Given the description of an element on the screen output the (x, y) to click on. 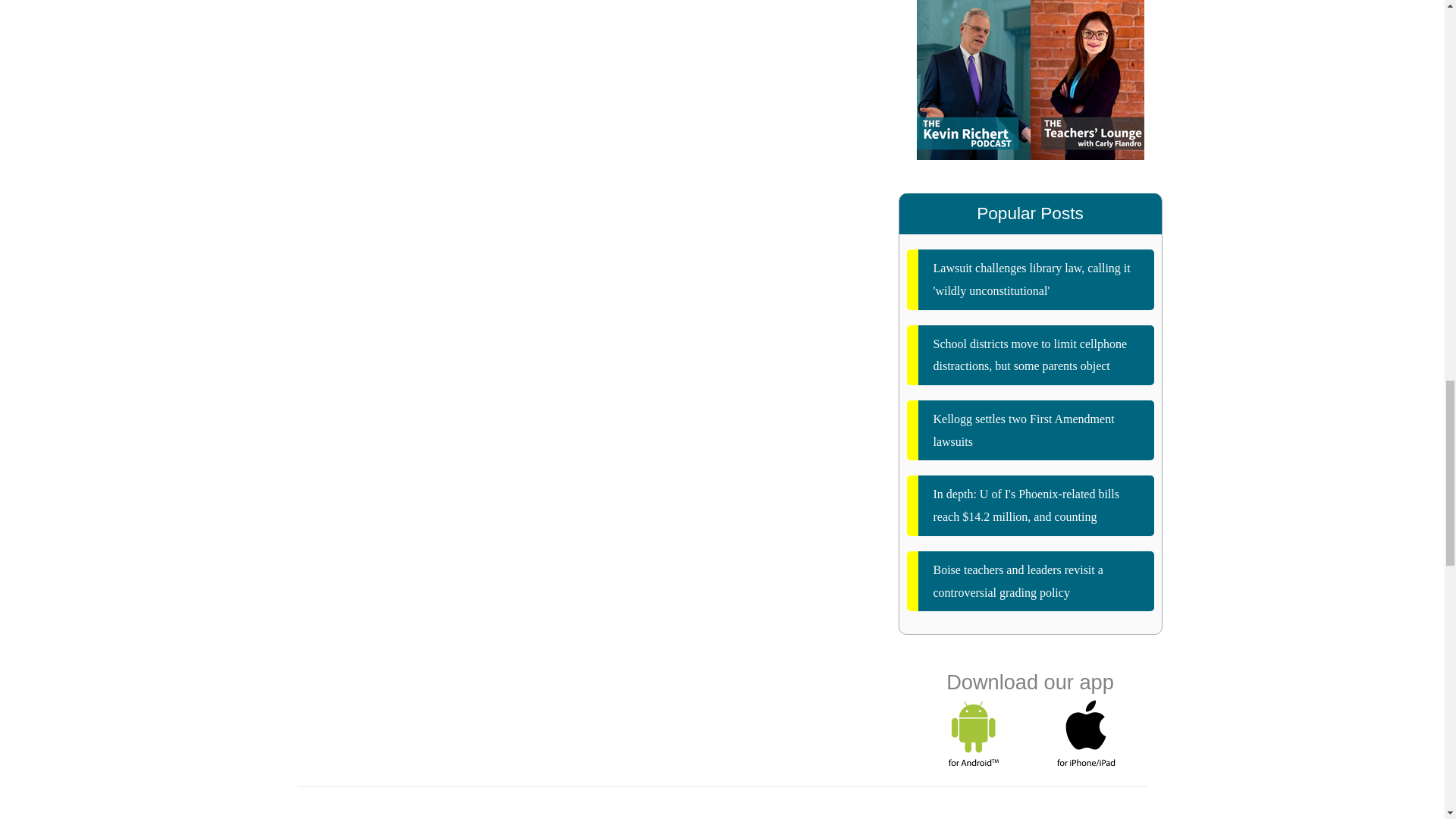
Kellogg settles two First Amendment lawsuits (1030, 430)
